Given the description of an element on the screen output the (x, y) to click on. 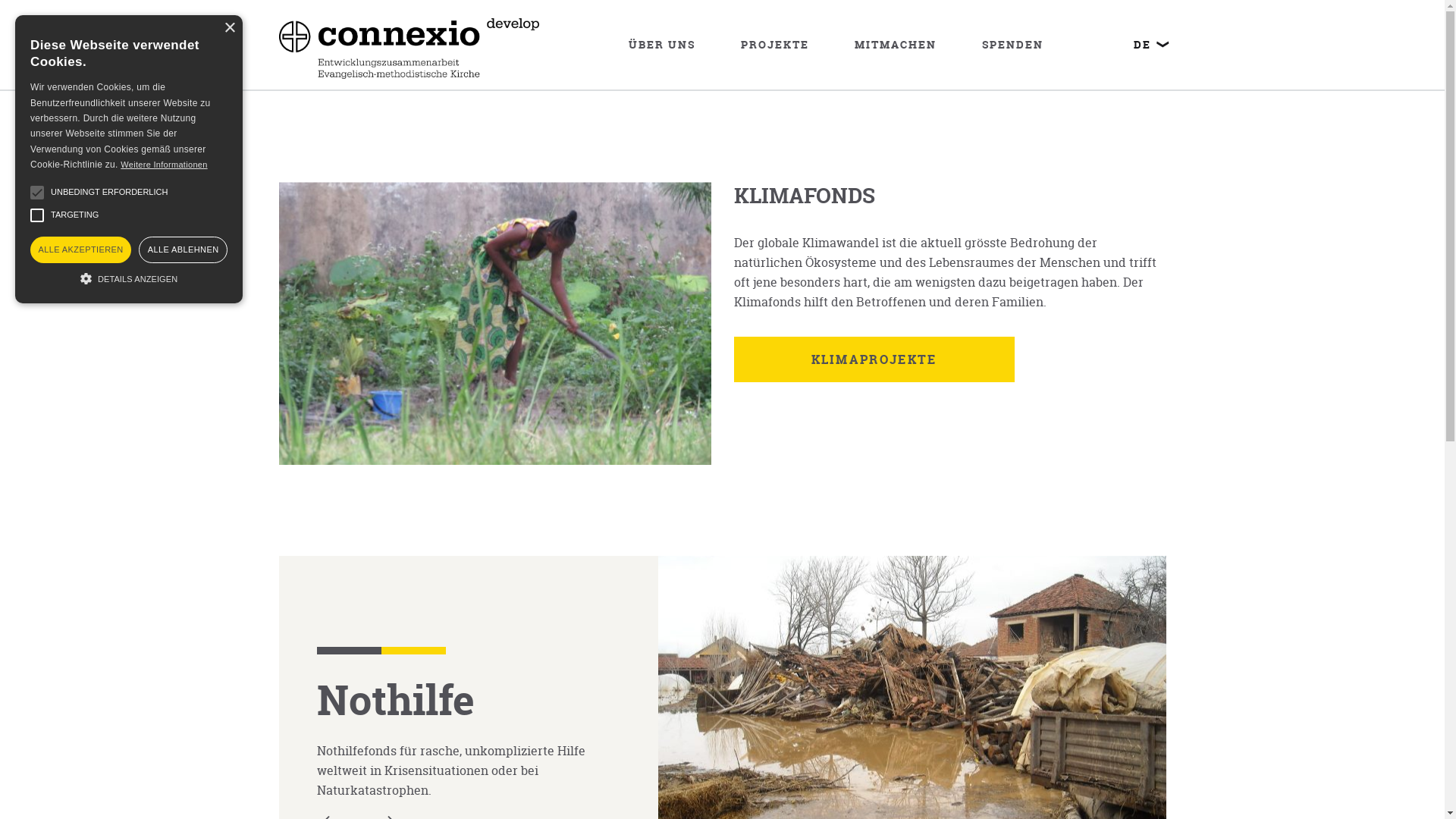
Weitere Informationen Element type: text (163, 164)
KLIMAFONDS Element type: text (804, 195)
PROJEKTE Element type: text (774, 44)
KLIMAPROJEKTE Element type: text (874, 359)
MITMACHEN Element type: text (895, 44)
SPENDEN Element type: text (1012, 44)
